Given the description of an element on the screen output the (x, y) to click on. 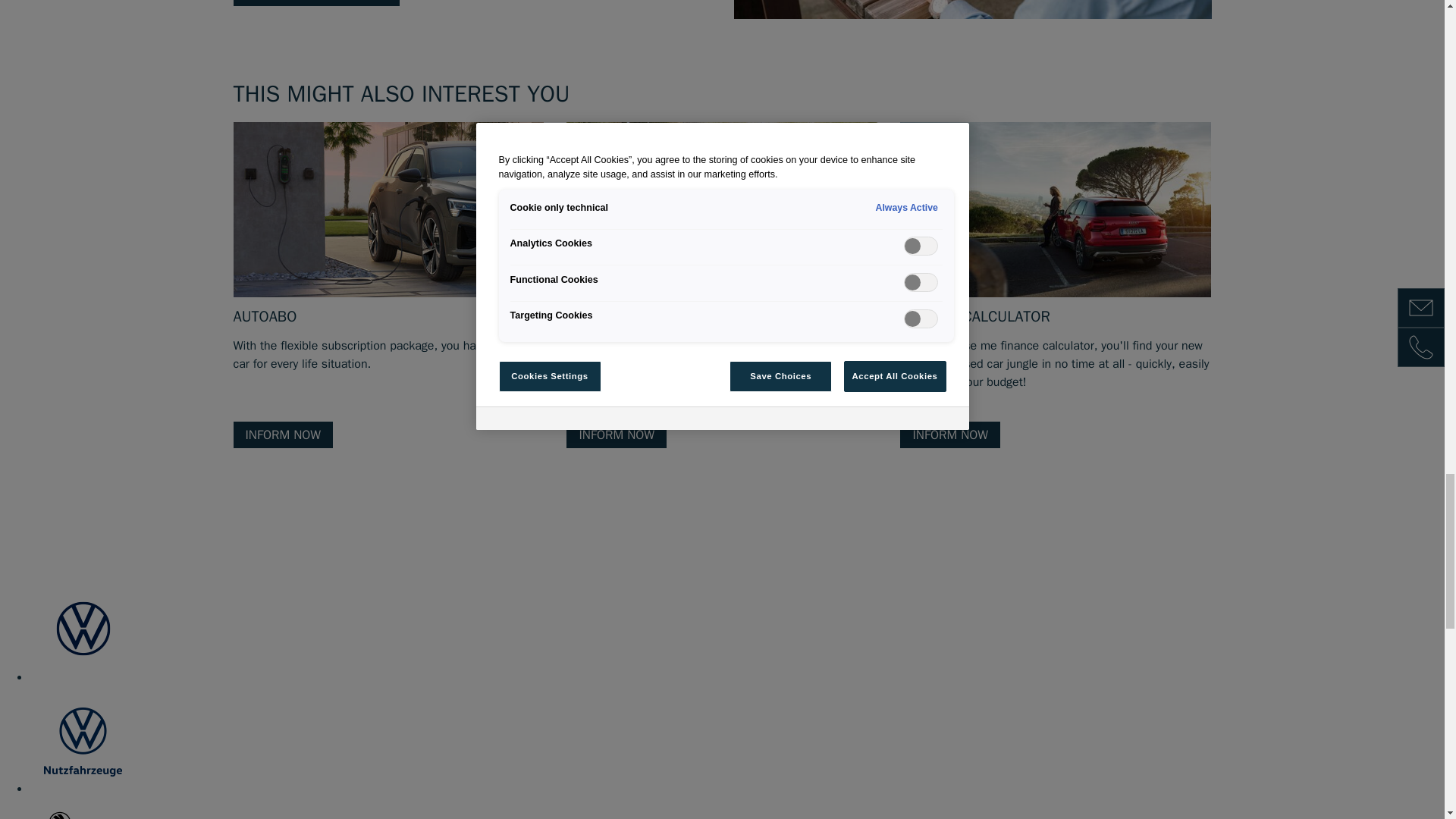
Porsche Bank Leasing und Kredit (1055, 209)
2109 Porschebank foto christian kasper 3064 RET (721, 209)
INFORM NOW (282, 434)
Q8e20224396withoutcast v2 l (388, 209)
INFORM NOW (949, 434)
INFORM NOW (616, 434)
FIND OUT MORE NOW (316, 3)
Porsche Bank Direktsparen Login (972, 9)
